Given the description of an element on the screen output the (x, y) to click on. 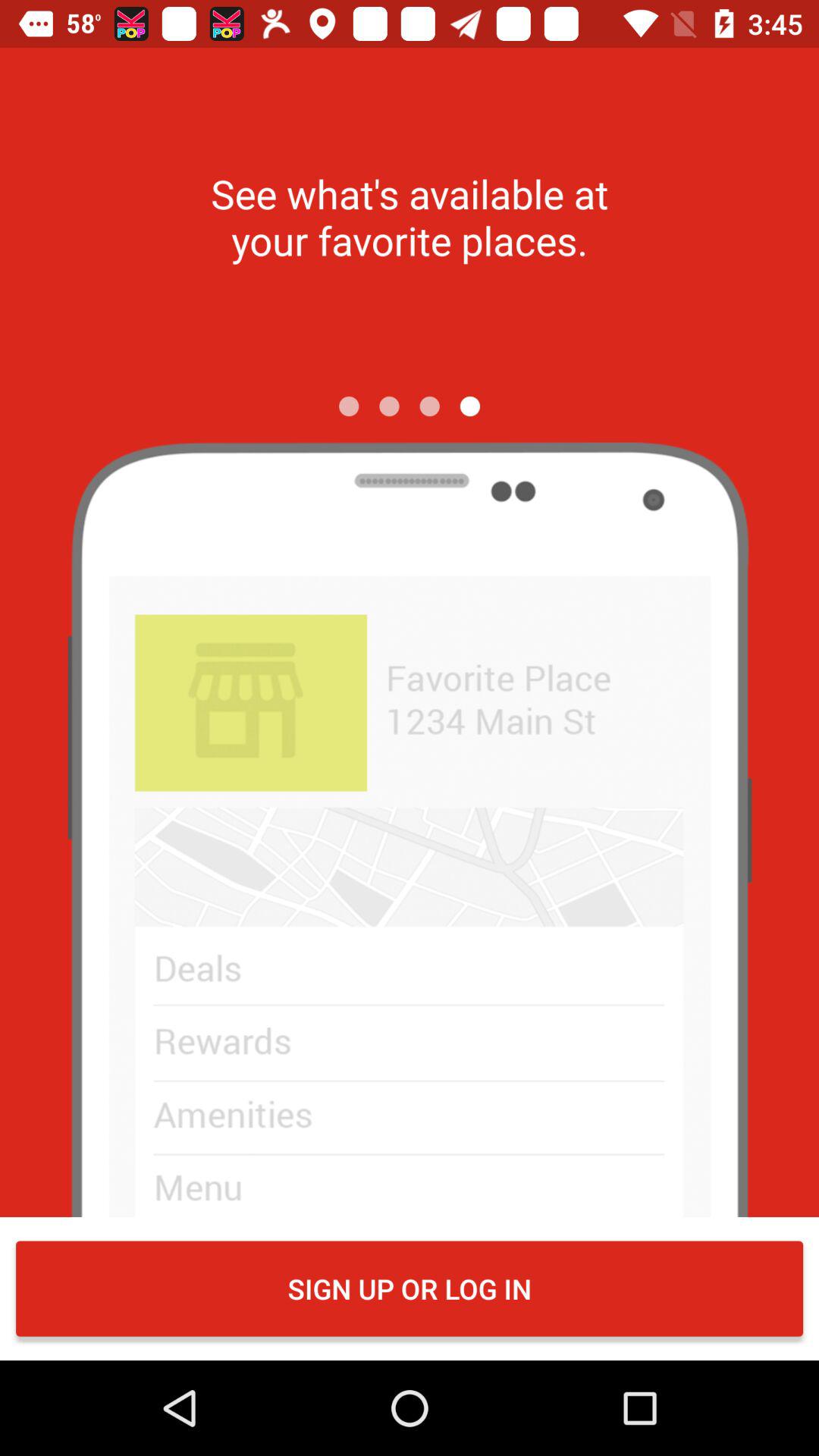
select icon below see what s item (470, 406)
